Given the description of an element on the screen output the (x, y) to click on. 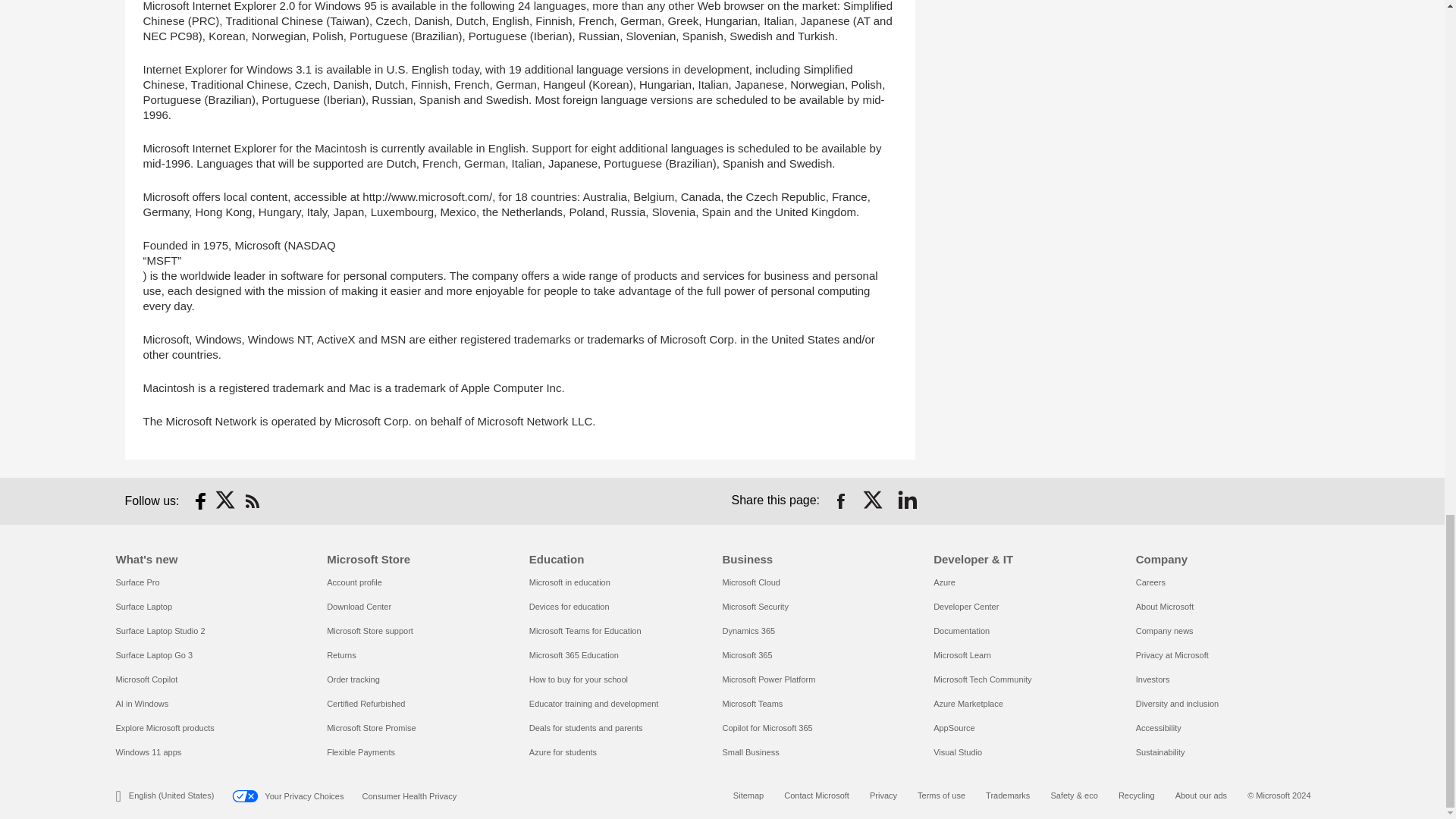
Follow on Twitter (226, 500)
Follow on Facebook (200, 500)
Share on Twitter (873, 500)
RSS Subscription (252, 500)
Share on Facebook (840, 500)
Share on LinkedIn (907, 500)
